Given the description of an element on the screen output the (x, y) to click on. 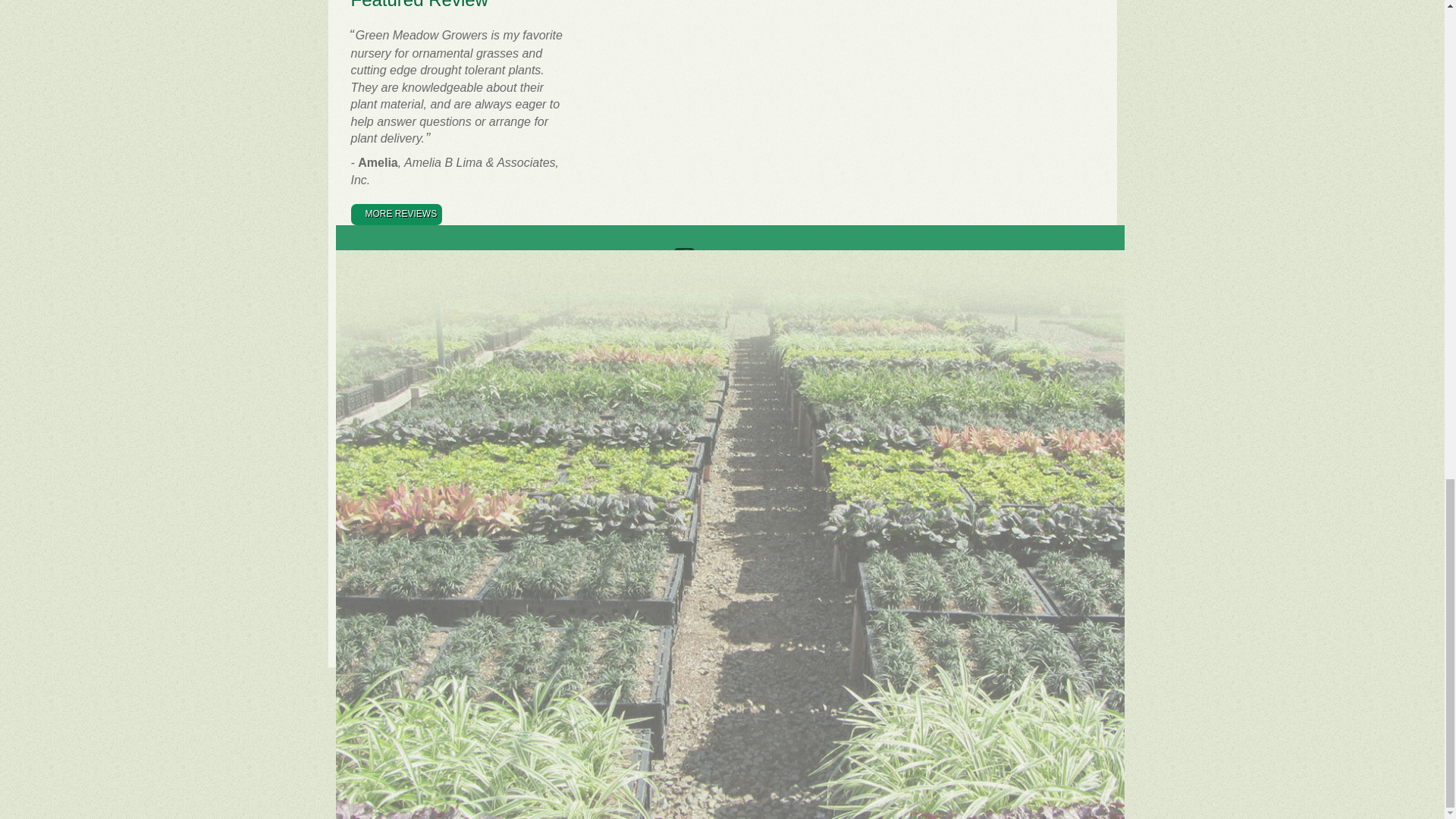
About (364, 282)
Careers (369, 320)
Grasses (469, 320)
MORE REVIEWS (395, 214)
Perennials (474, 357)
Availability (474, 301)
Partnerships (380, 301)
Succulents (475, 338)
Blog (360, 376)
Like us on Facebook (737, 262)
What's New (477, 376)
Plants (464, 282)
Contact (368, 357)
Meet the Team (385, 338)
